Given the description of an element on the screen output the (x, y) to click on. 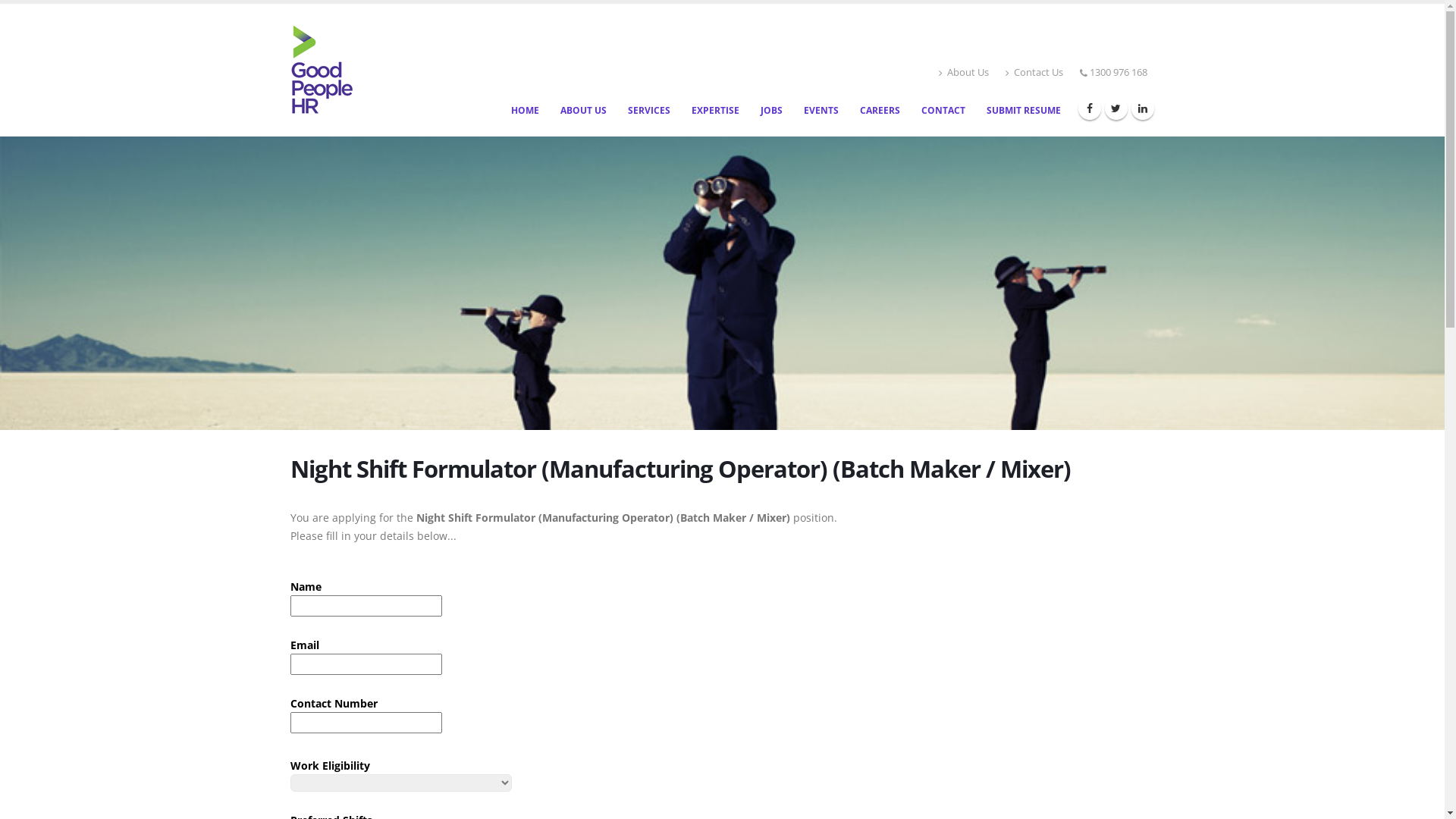
CONTACT Element type: text (943, 110)
Linkedin Element type: hover (1142, 108)
EVENTS Element type: text (820, 110)
About Us Element type: text (963, 72)
CAREERS Element type: text (879, 110)
1300 976 168 Element type: text (1117, 71)
HOME Element type: text (524, 110)
Facebook Element type: hover (1089, 108)
Twitter Element type: hover (1115, 108)
EXPERTISE Element type: text (714, 110)
JOBS Element type: text (771, 110)
Contact Us Element type: text (1033, 72)
SUBMIT RESUME Element type: text (1023, 110)
ABOUT US Element type: text (583, 110)
SERVICES Element type: text (648, 110)
